Given the description of an element on the screen output the (x, y) to click on. 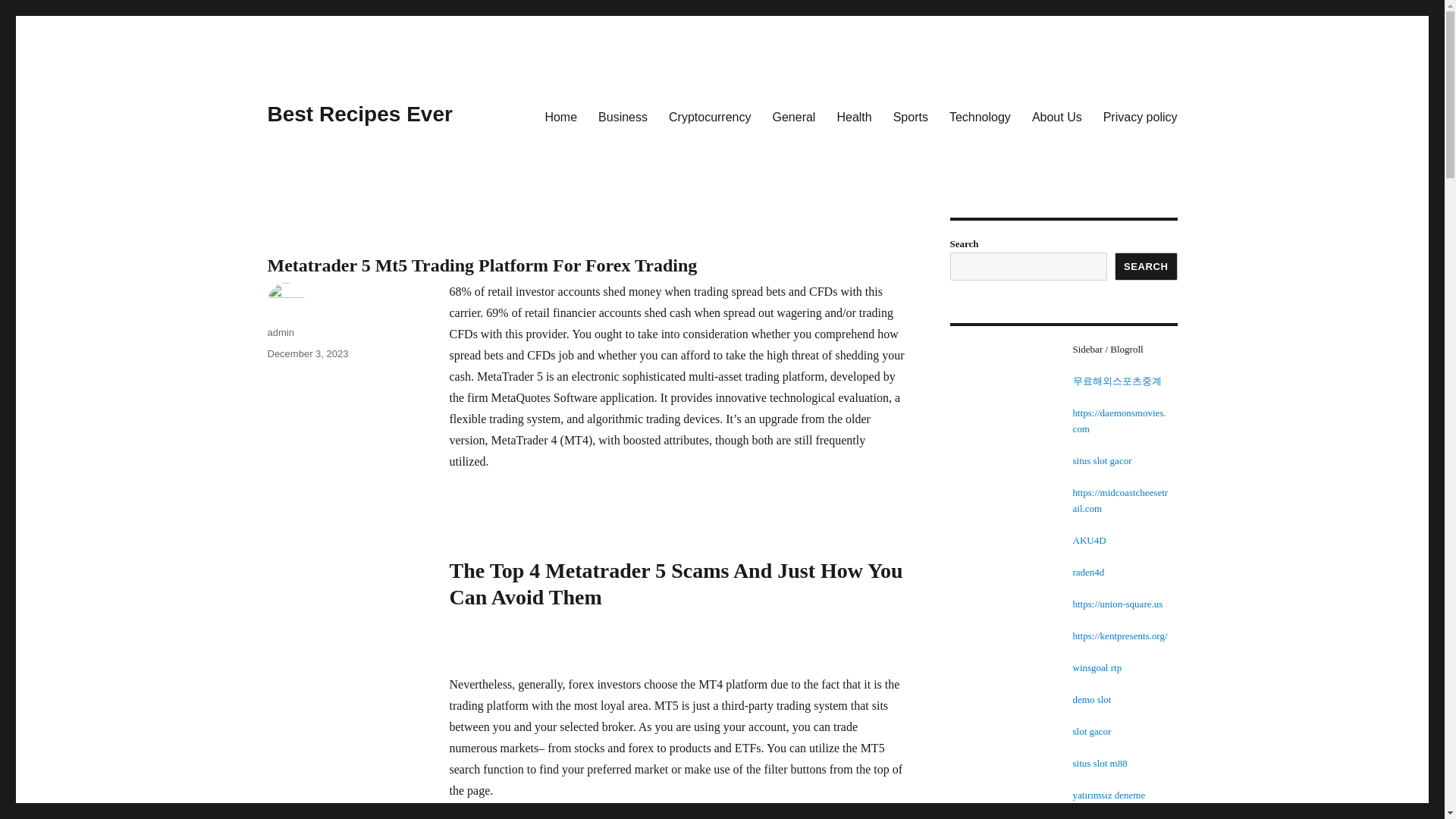
Home (561, 116)
admin (280, 332)
raden4d (1087, 572)
situs slot m88 (1098, 763)
slot gacor (1090, 731)
About Us (1057, 116)
General (793, 116)
SEARCH (1146, 266)
Privacy policy (1140, 116)
Sports (910, 116)
